Given the description of an element on the screen output the (x, y) to click on. 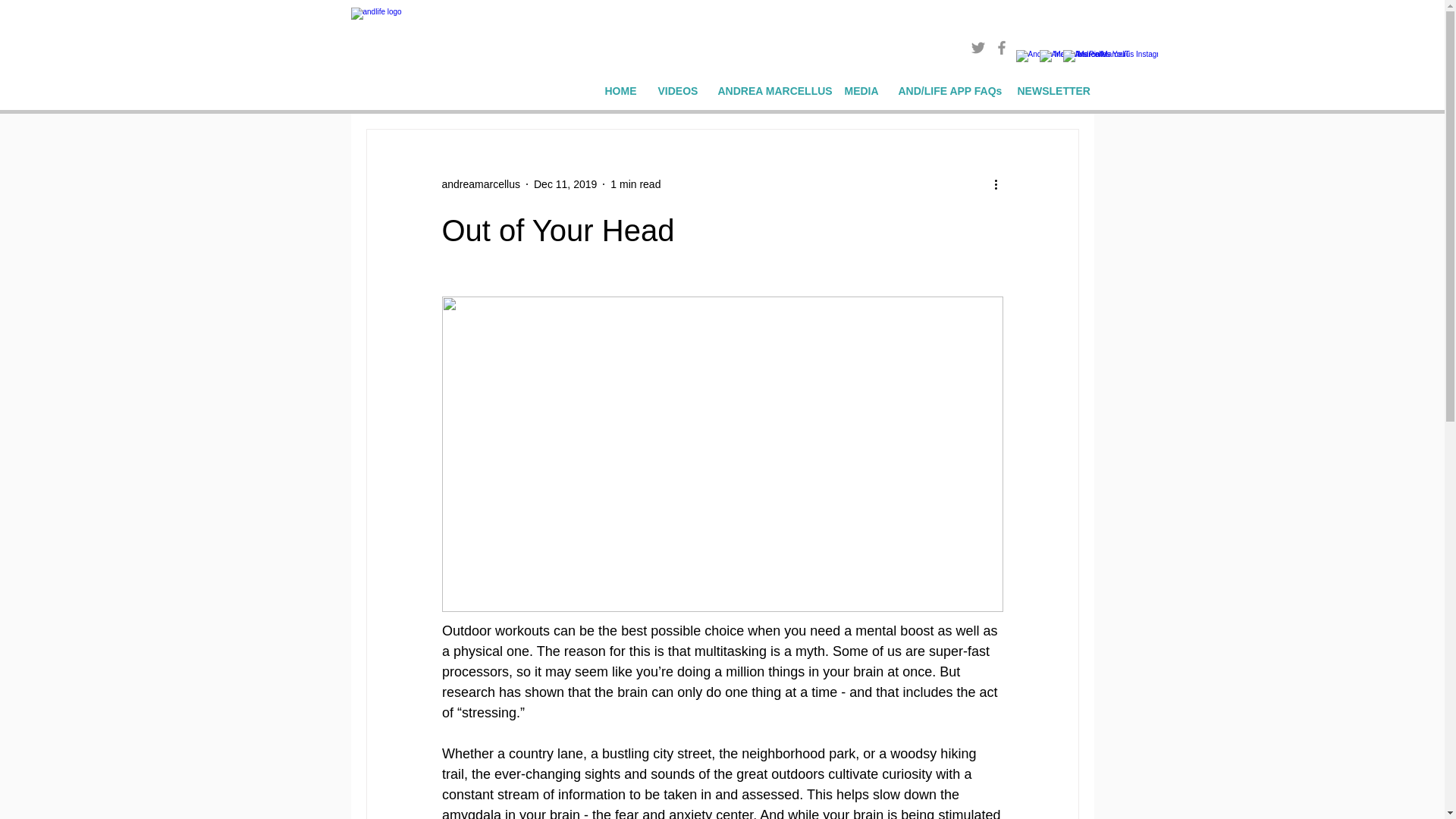
VIDEOS (676, 90)
Dec 11, 2019 (565, 183)
NEWSLETTER (1049, 90)
andreamarcellus (480, 183)
andreamarcellus (480, 183)
MEDIA (859, 90)
ANDREA MARCELLUS (769, 90)
HOME (619, 90)
1 min read (635, 183)
